Given the description of an element on the screen output the (x, y) to click on. 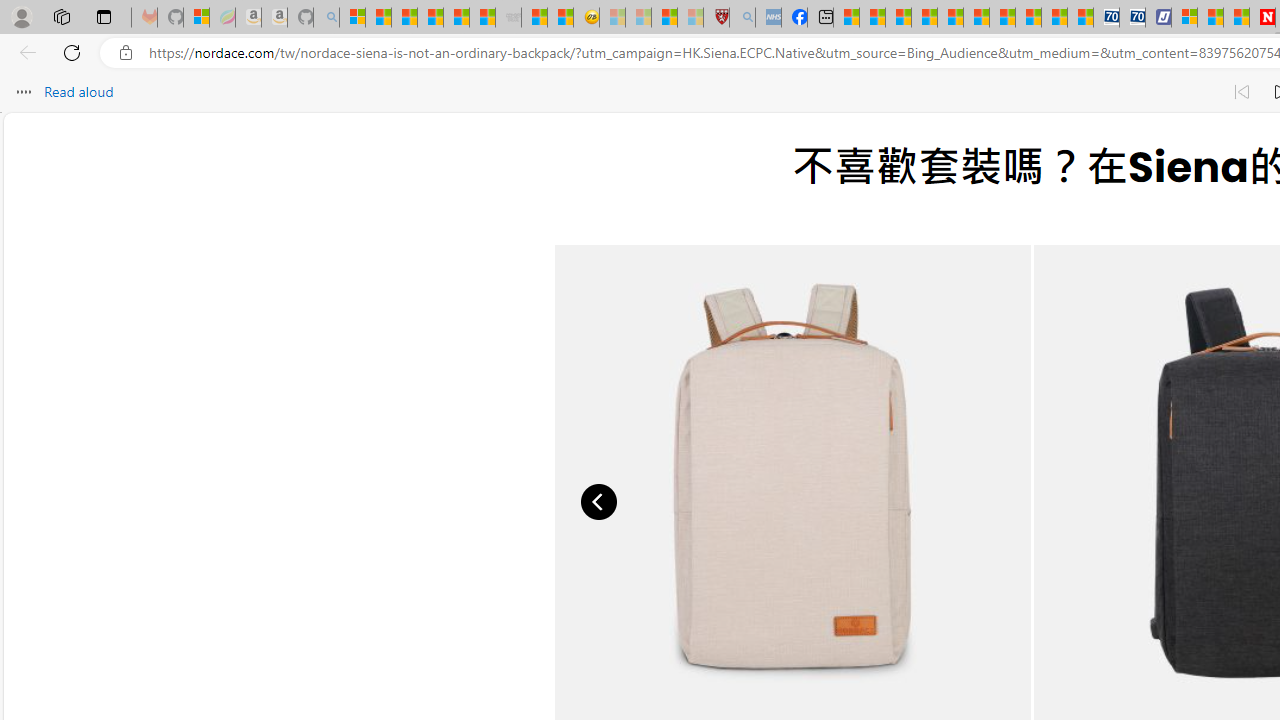
Combat Siege - Sleeping (507, 17)
Microsoft Start (1210, 17)
New Report Confirms 2023 Was Record Hot | Watch (456, 17)
Stocks - MSN (482, 17)
Read previous paragraph (1241, 92)
Science - MSN (664, 17)
Workspaces (61, 16)
list of asthma inhalers uk - Search - Sleeping (742, 17)
